Given the description of an element on the screen output the (x, y) to click on. 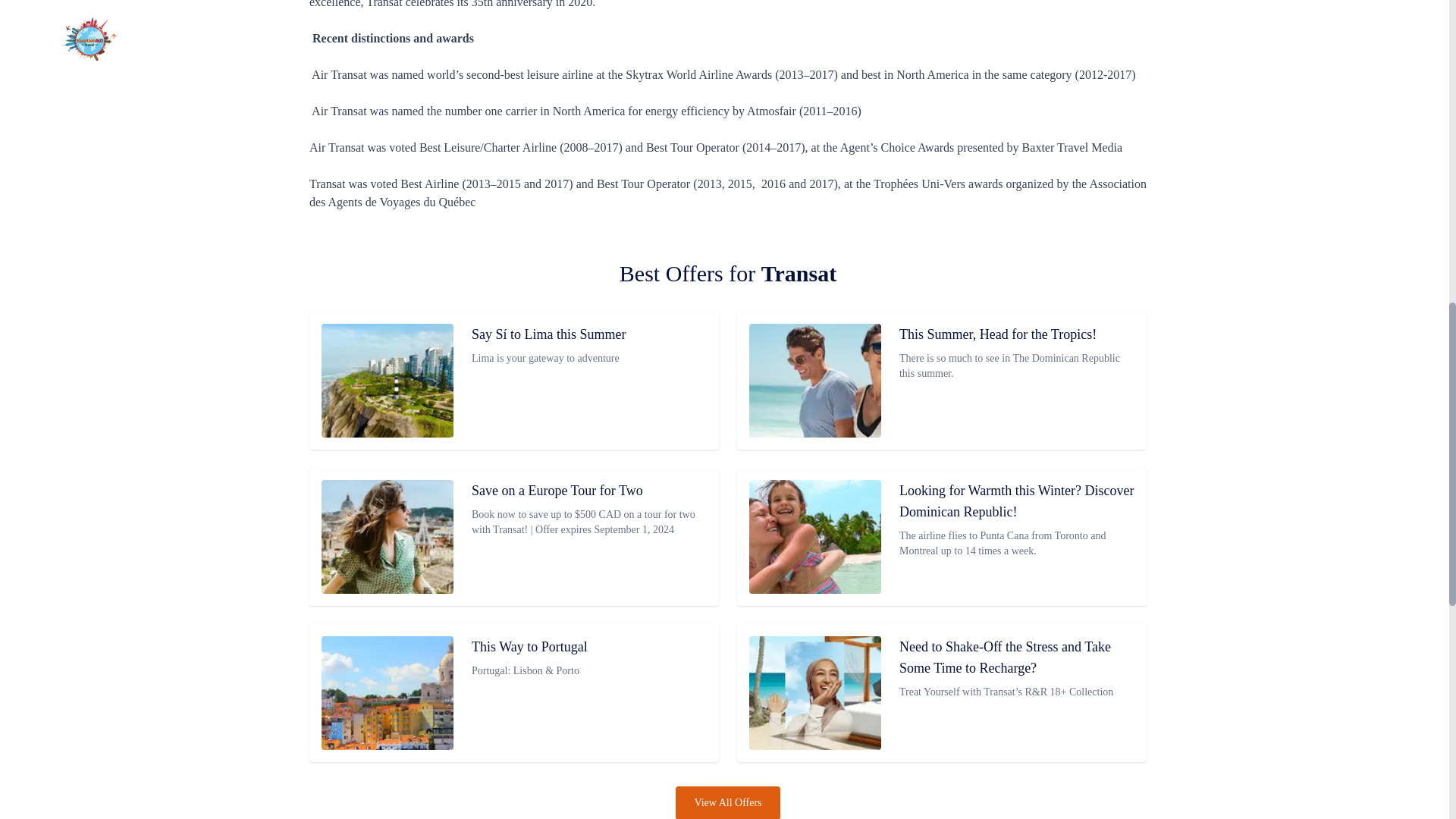
View All Offers (726, 802)
